Given the description of an element on the screen output the (x, y) to click on. 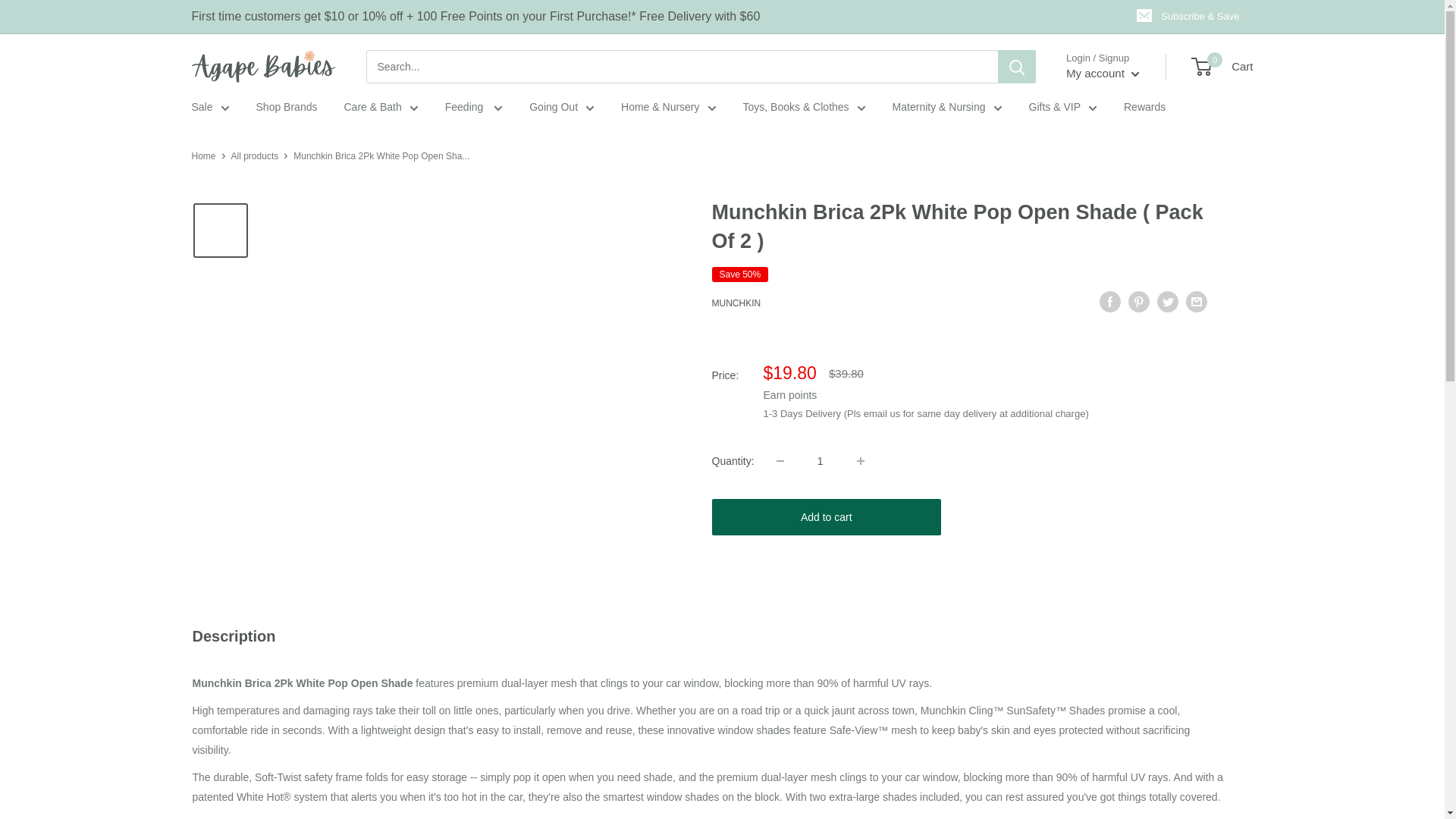
Increase quantity by 1 (860, 460)
1 (820, 460)
Decrease quantity by 1 (780, 460)
